Given the description of an element on the screen output the (x, y) to click on. 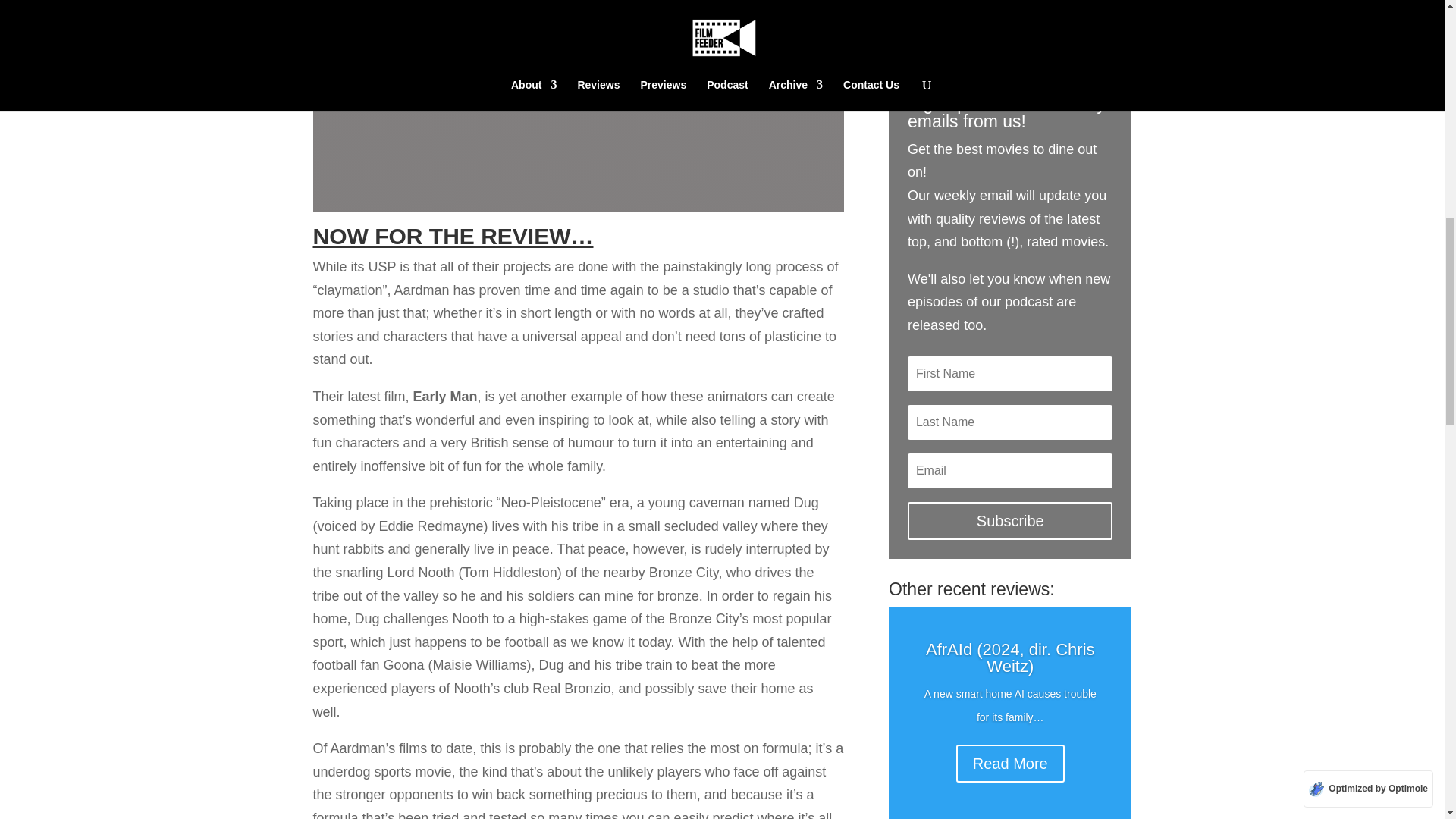
Read More (1010, 763)
Subscribe (1009, 520)
SUPPORT US ON PATREON (1009, 27)
